Given the description of an element on the screen output the (x, y) to click on. 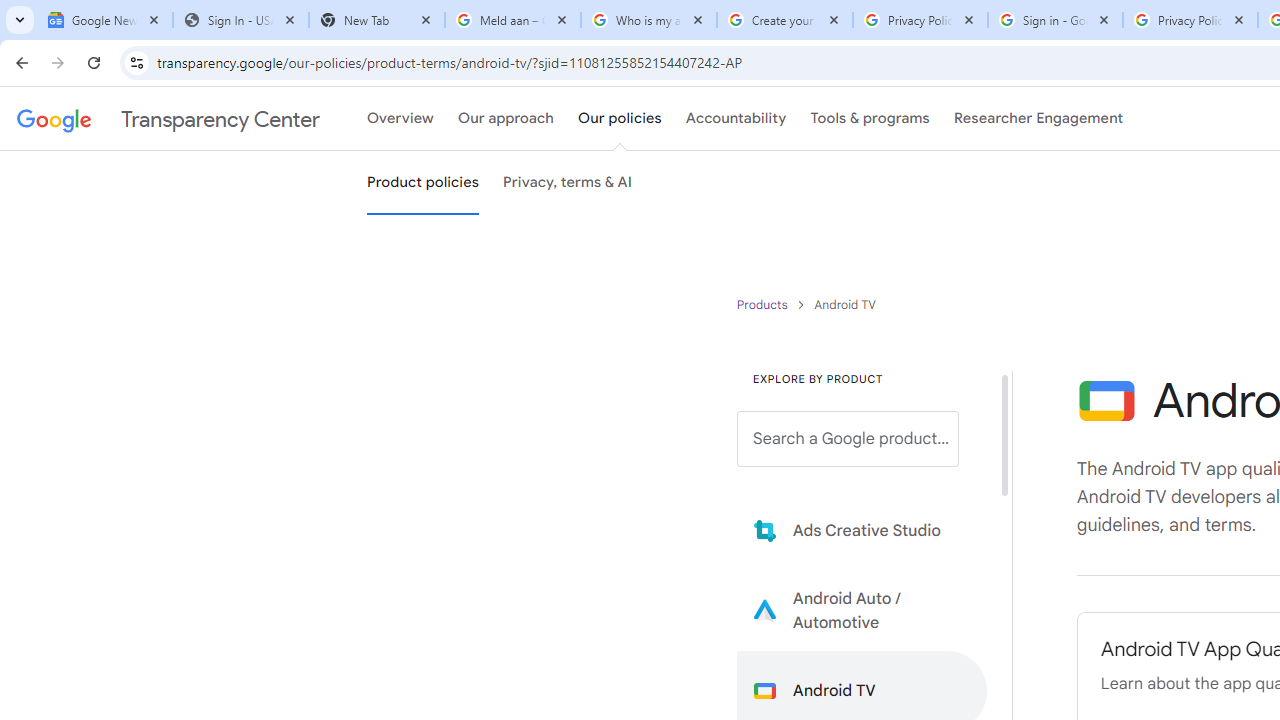
Our approach (506, 119)
Sign In - USA TODAY (240, 20)
Tools & programs (869, 119)
Who is my administrator? - Google Account Help (648, 20)
New Tab (376, 20)
Learn more about Android Auto (862, 610)
Google News (104, 20)
Create your Google Account (784, 20)
Researcher Engagement (1038, 119)
Our policies (619, 119)
Learn more about Ads Creative Studio (862, 530)
Accountability (735, 119)
